Given the description of an element on the screen output the (x, y) to click on. 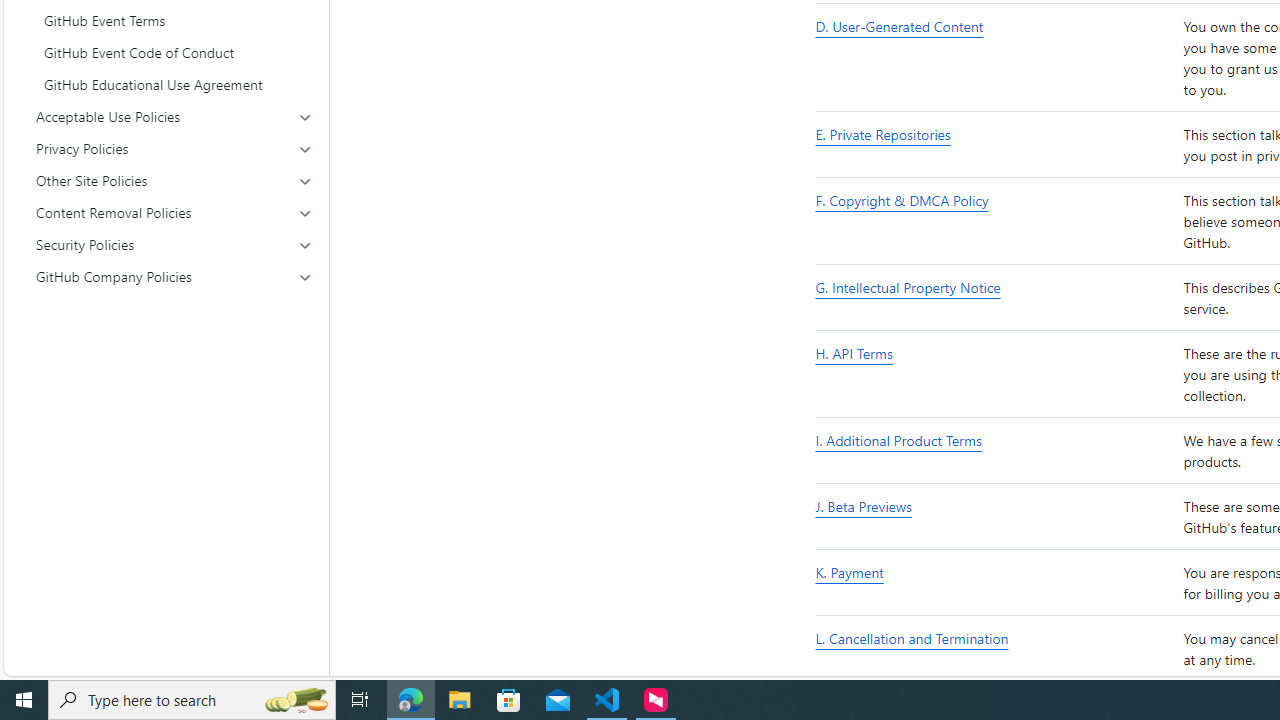
GitHub Event Code of Conduct (174, 52)
Content Removal Policies (174, 212)
GitHub Company Policies (174, 276)
Acceptable Use Policies (174, 116)
GitHub Educational Use Agreement (174, 84)
GitHub Event Terms (174, 20)
